Given the description of an element on the screen output the (x, y) to click on. 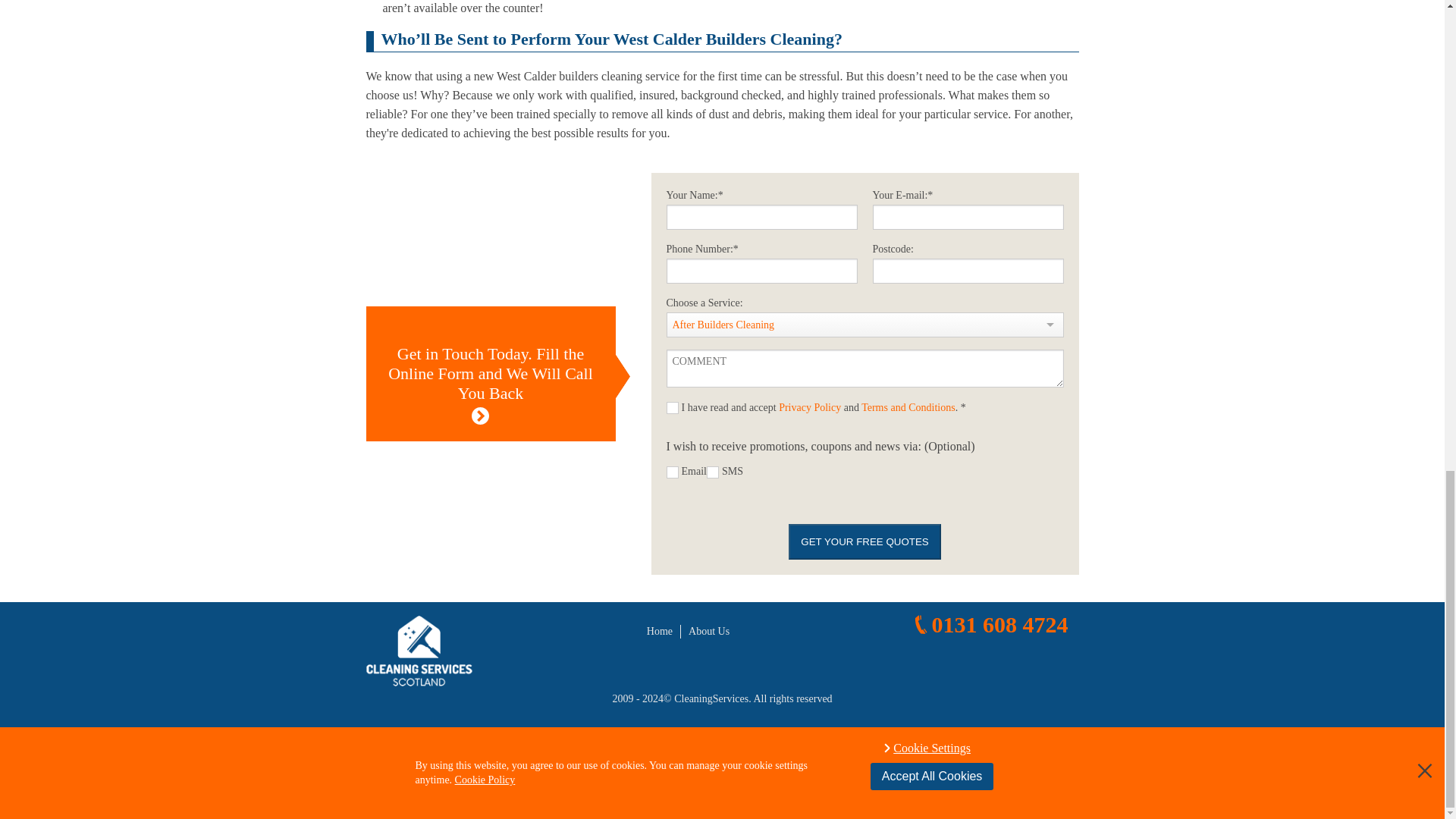
Home (659, 631)
Get Your Free Quotes (864, 541)
About Us (708, 631)
Get Your Free Quotes (864, 541)
After Builders Cleaning (854, 324)
Terms and Conditions (908, 407)
0131 608 4724 (989, 624)
Privacy Policy (809, 407)
